Given the description of an element on the screen output the (x, y) to click on. 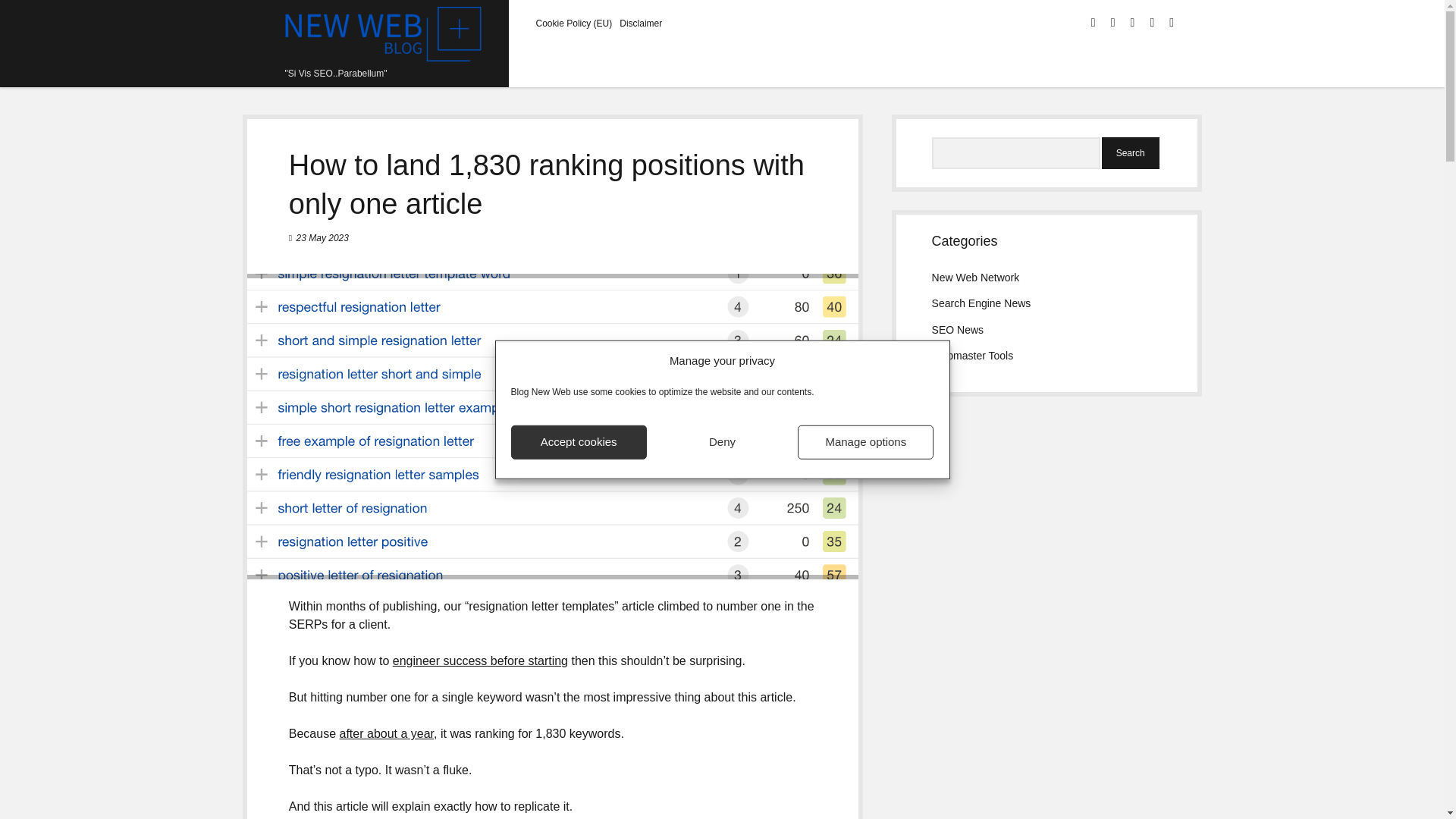
Deny (721, 441)
after about a year (386, 733)
engineer success before starting (480, 660)
Search (1130, 152)
Disclaimer (641, 23)
Search (1130, 152)
Search for: (1015, 152)
Manage options (865, 441)
Accept cookies (578, 441)
23 May 2023 (323, 237)
